Given the description of an element on the screen output the (x, y) to click on. 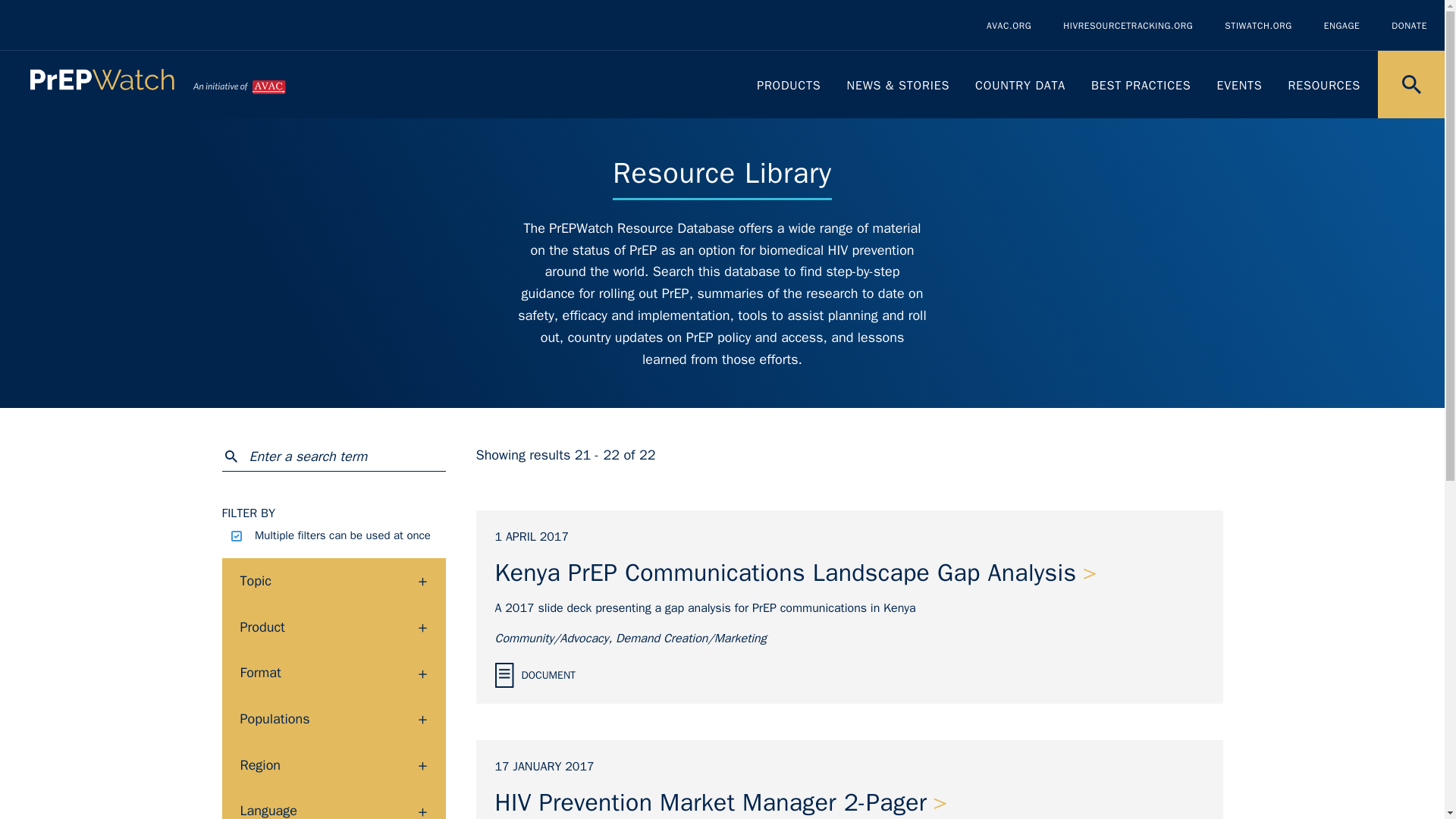
AVAC.ORG (1008, 25)
DONATE (1408, 25)
An Initiative of AVAC (238, 85)
Visit avac.org (238, 85)
ENGAGE (1341, 25)
PRODUCTS (788, 84)
COUNTRY DATA (1020, 84)
HIVRESOURCETRACKING.ORG (1127, 25)
Visit the home page (102, 85)
STIWATCH.ORG (1257, 25)
BEST PRACTICES (1141, 84)
EVENTS (1239, 84)
